Given the description of an element on the screen output the (x, y) to click on. 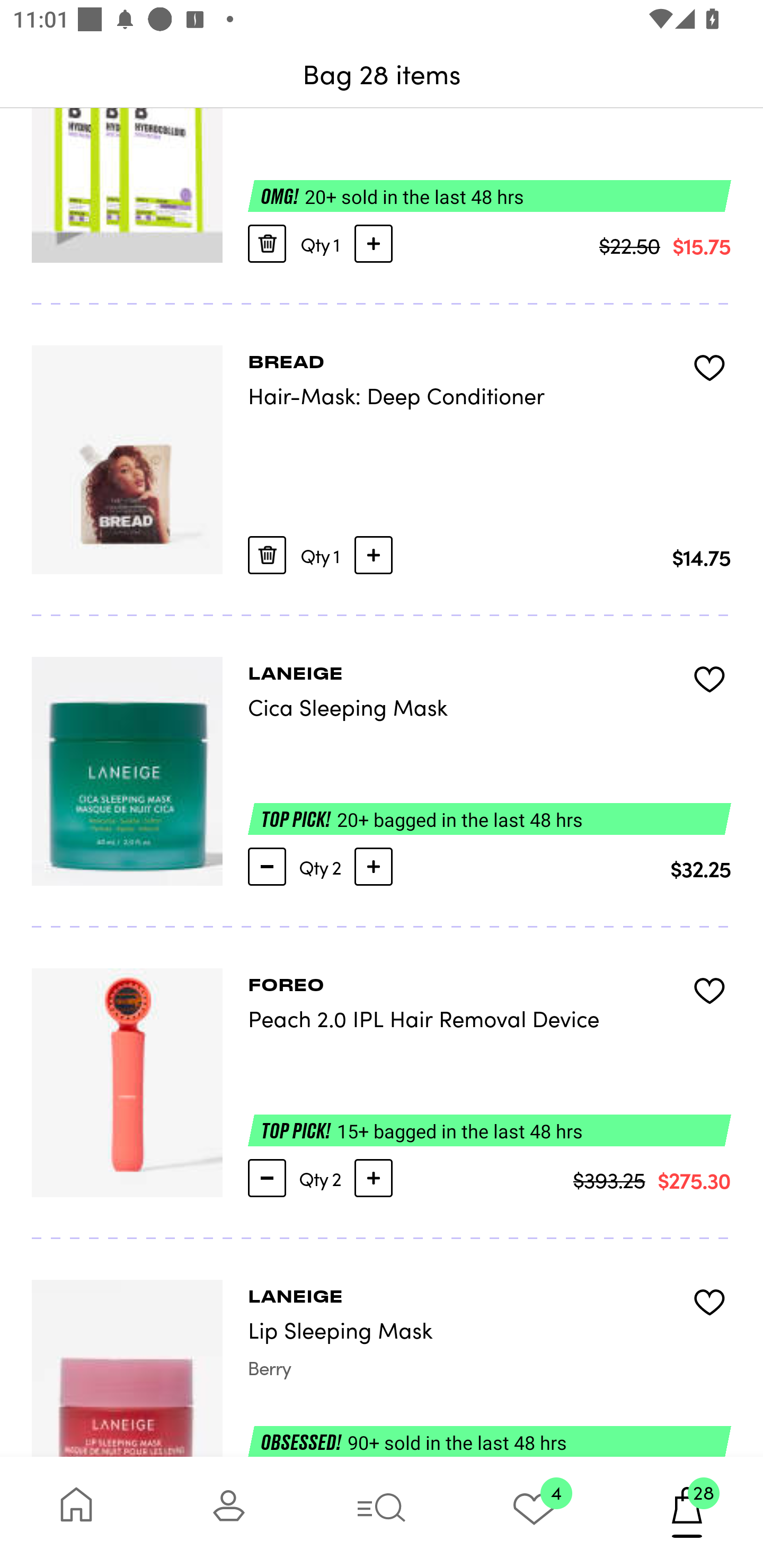
BREAD Hair-Mask: Deep Conditioner Qty 1 $14.75 (381, 460)
4 (533, 1512)
28 (686, 1512)
